Given the description of an element on the screen output the (x, y) to click on. 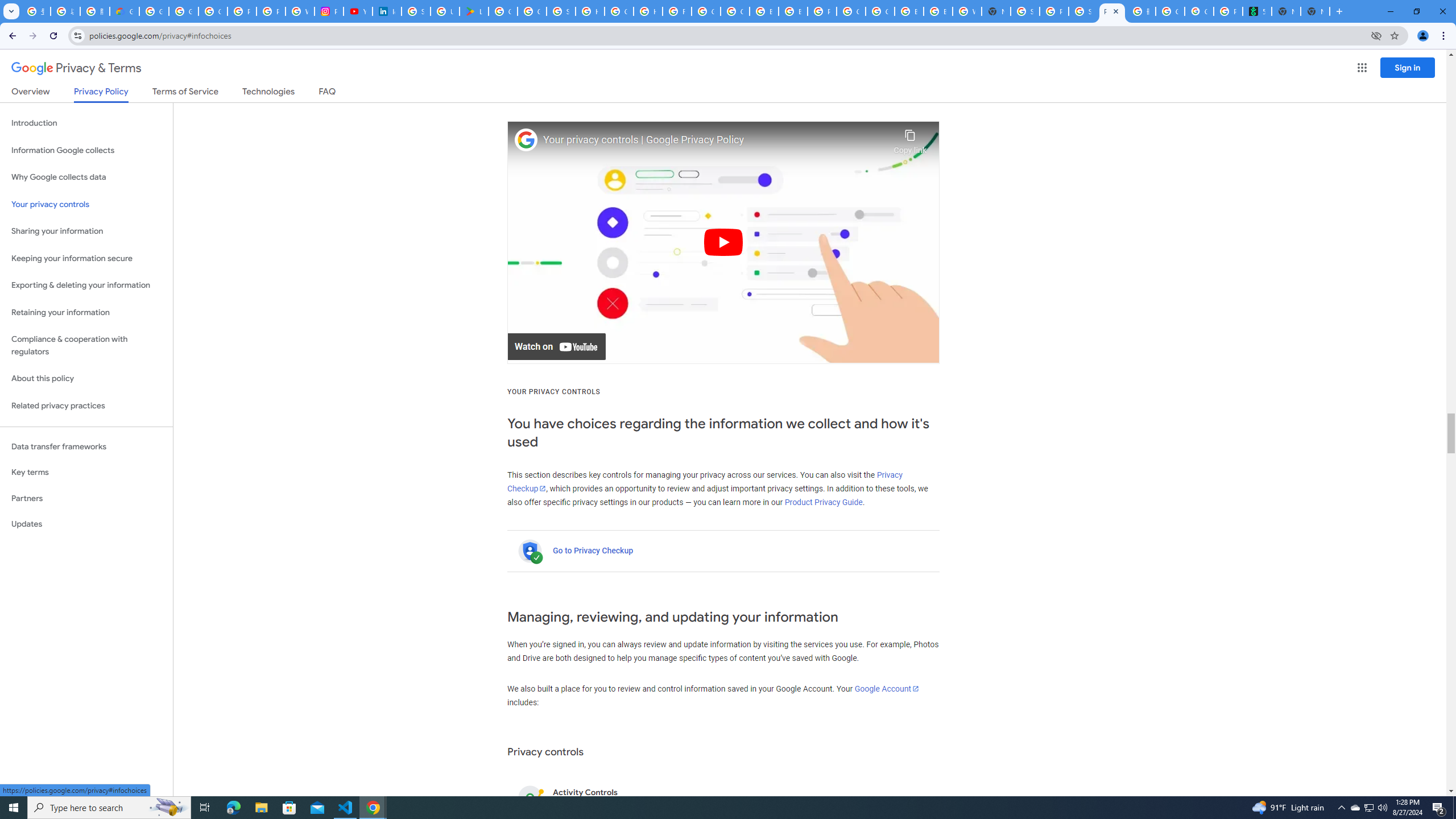
How do I create a new Google Account? - Google Account Help (648, 11)
Google Workspace - Specific Terms (531, 11)
Privacy Help Center - Policies Help (271, 11)
Your privacy controls | Google Privacy Policy (715, 140)
Sharing your information (86, 230)
Product Privacy Guide (823, 501)
Sign in - Google Accounts (560, 11)
Copy link (909, 139)
